Given the description of an element on the screen output the (x, y) to click on. 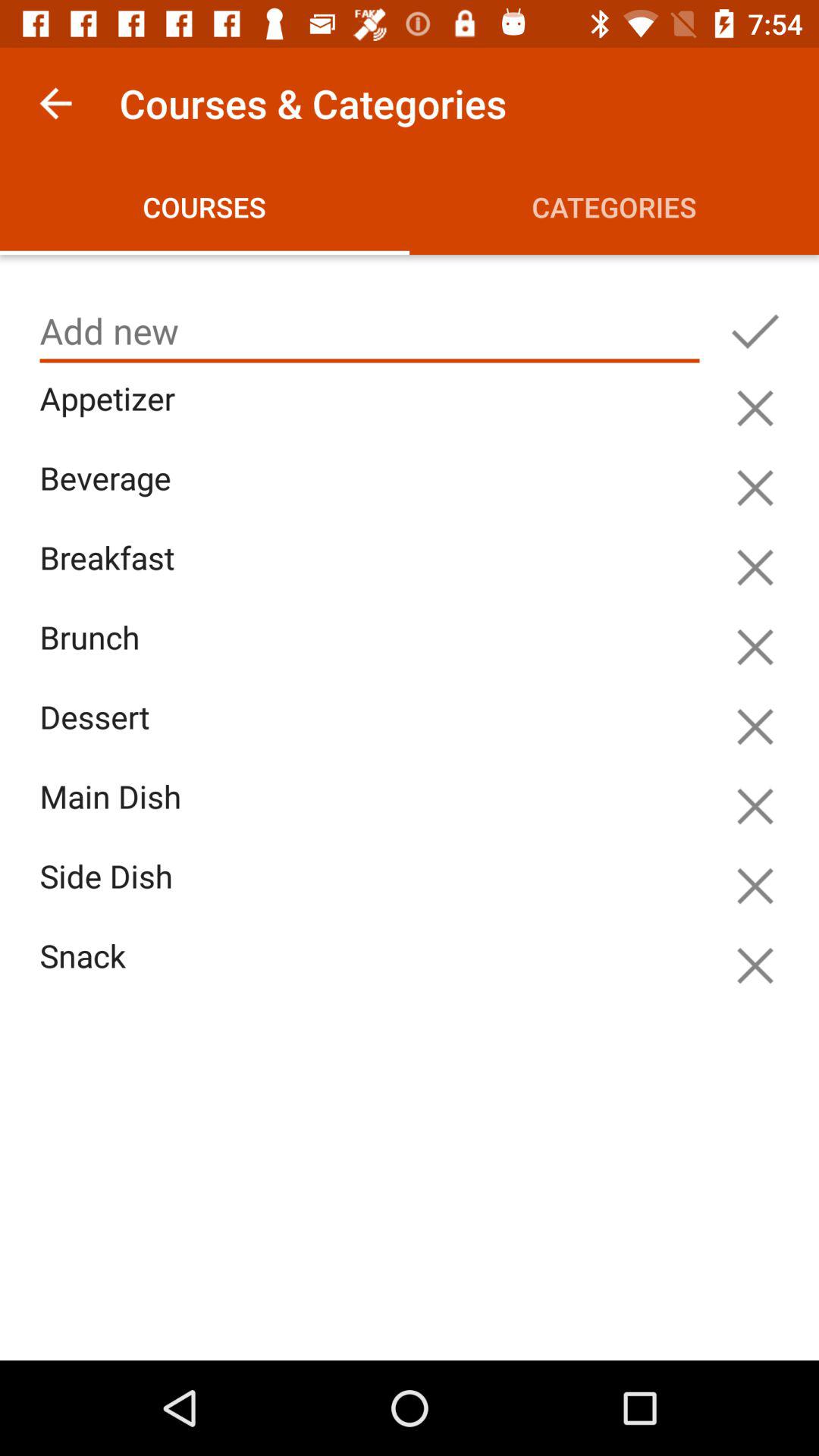
remove item (755, 806)
